Given the description of an element on the screen output the (x, y) to click on. 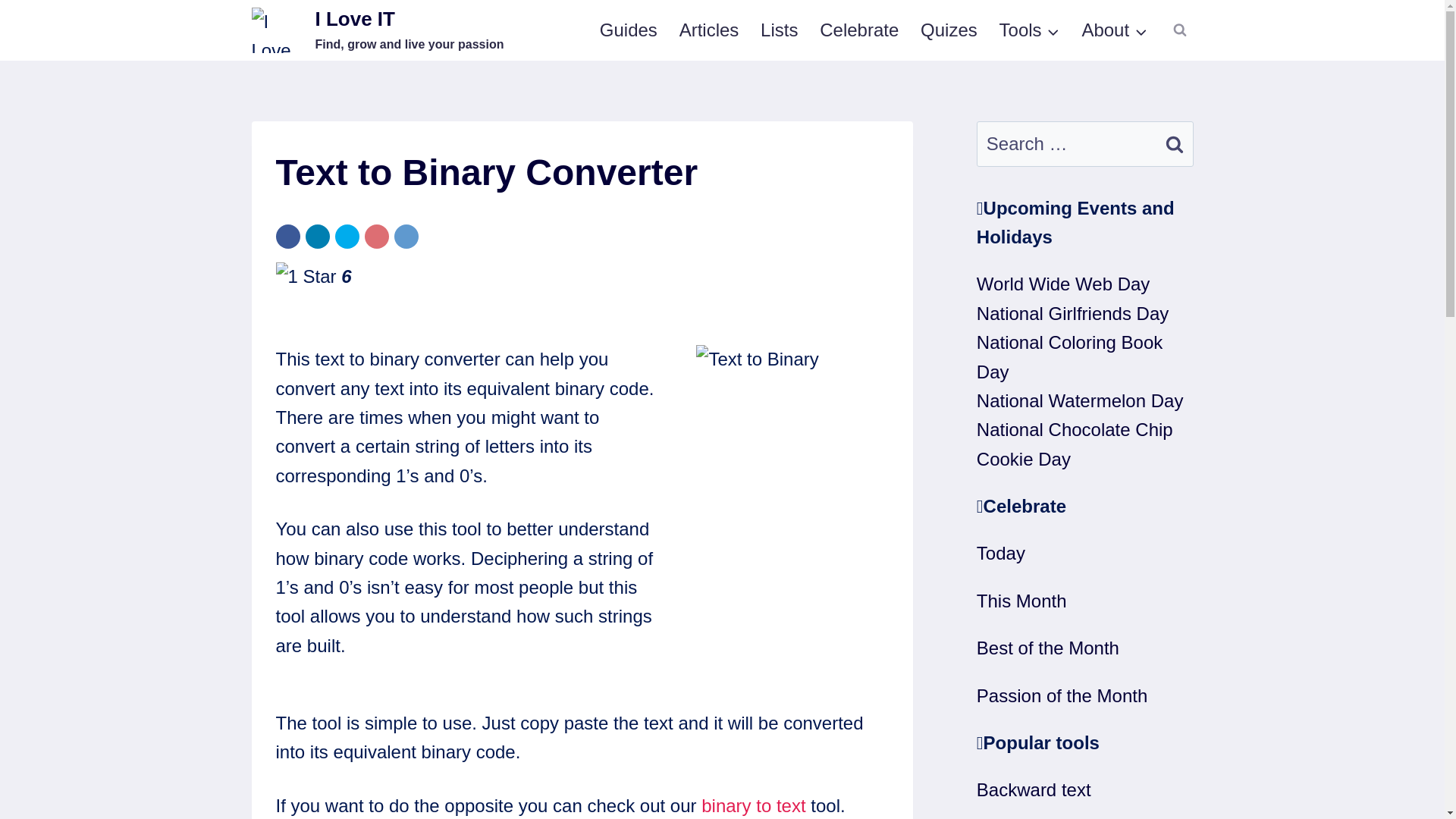
About (1114, 29)
Quizes (949, 29)
Articles (708, 29)
National Chocolate Chip Cookie Day (1074, 443)
binary to text (377, 30)
Guides (753, 805)
Lists (628, 29)
World Wide Web Day (779, 29)
1 Star (1063, 283)
